Given the description of an element on the screen output the (x, y) to click on. 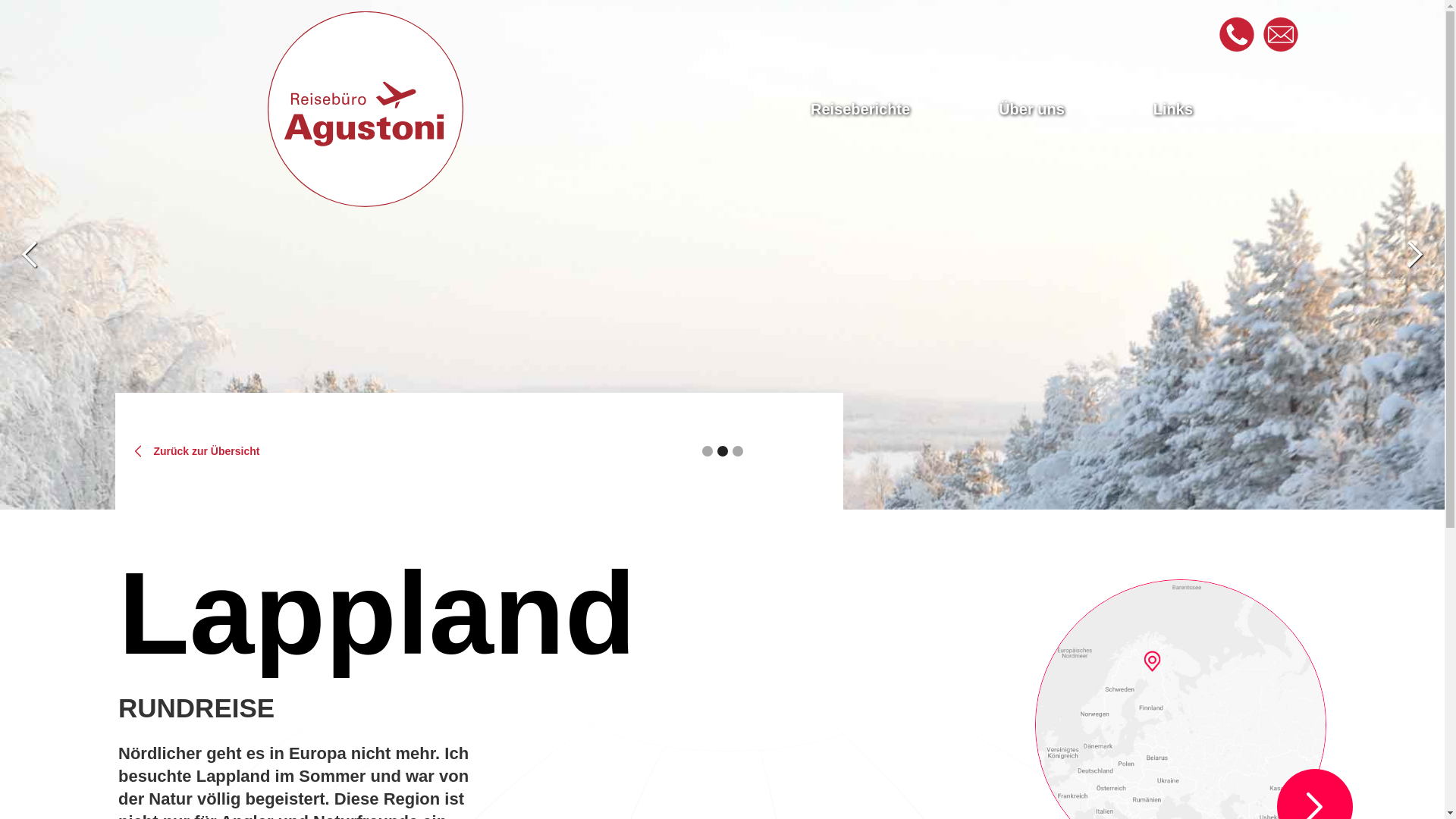
Links Element type: text (1172, 108)
Reiseberichte Element type: text (859, 108)
